Given the description of an element on the screen output the (x, y) to click on. 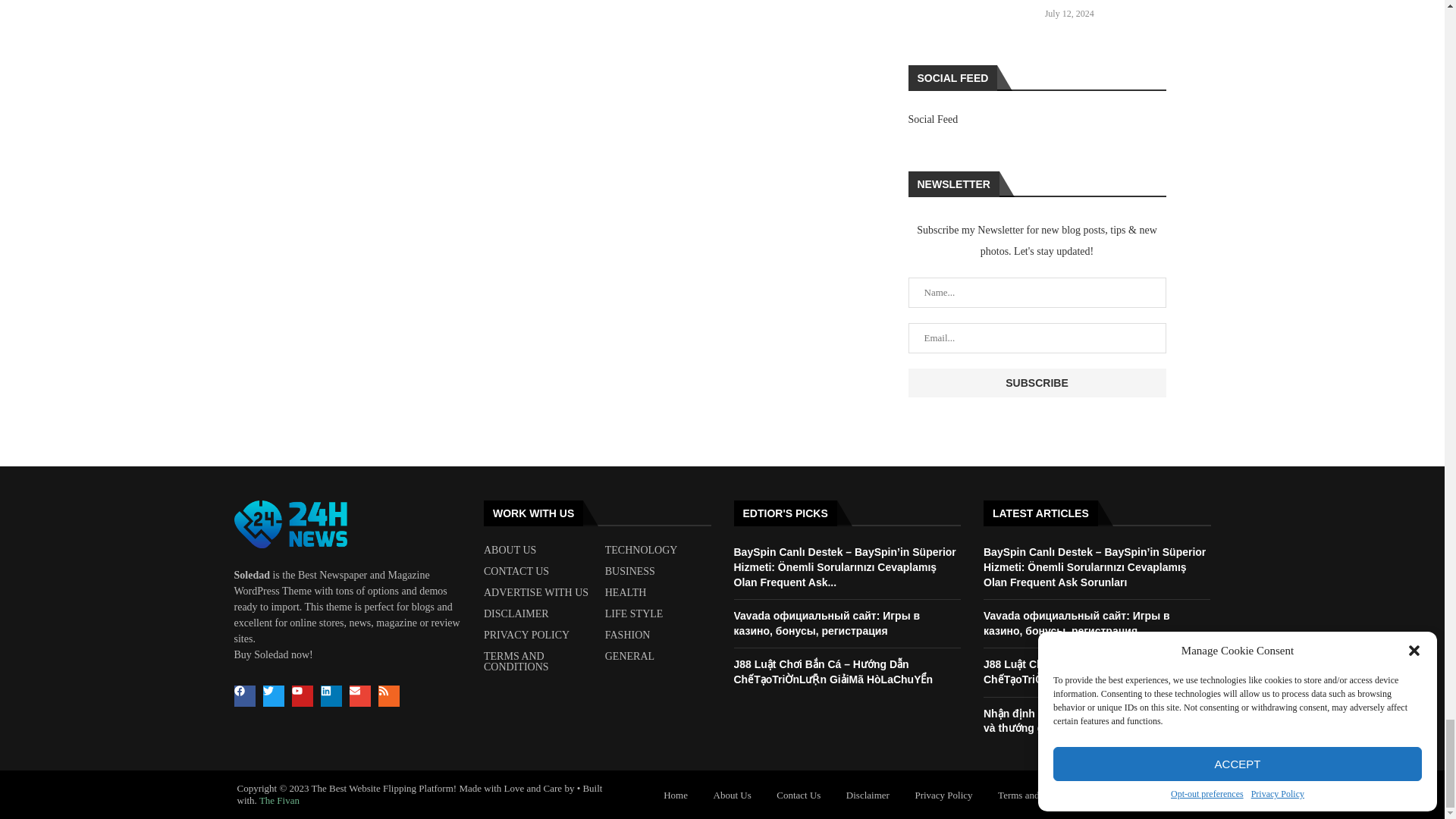
Subscribe (1037, 382)
